Given the description of an element on the screen output the (x, y) to click on. 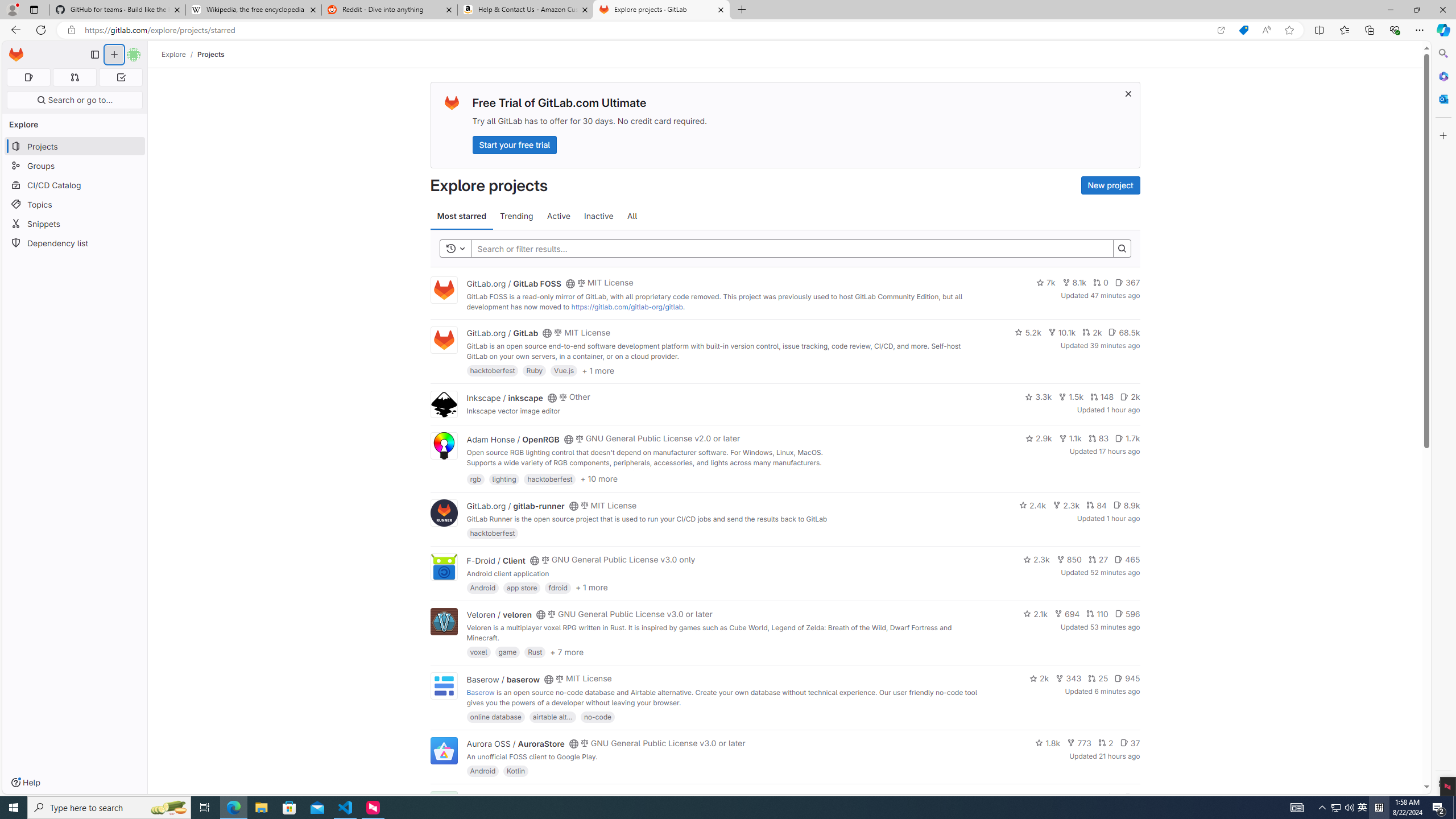
Dependency list (74, 242)
GitLab.org / GitLab (501, 333)
Active (559, 216)
Merge requests 0 (74, 76)
To-Do list 0 (120, 76)
1.1k (1069, 438)
7k (1045, 282)
5.2k (1027, 331)
Assigned issues 0 (28, 76)
1.7k (1127, 438)
Veloren / veloren (498, 614)
